Given the description of an element on the screen output the (x, y) to click on. 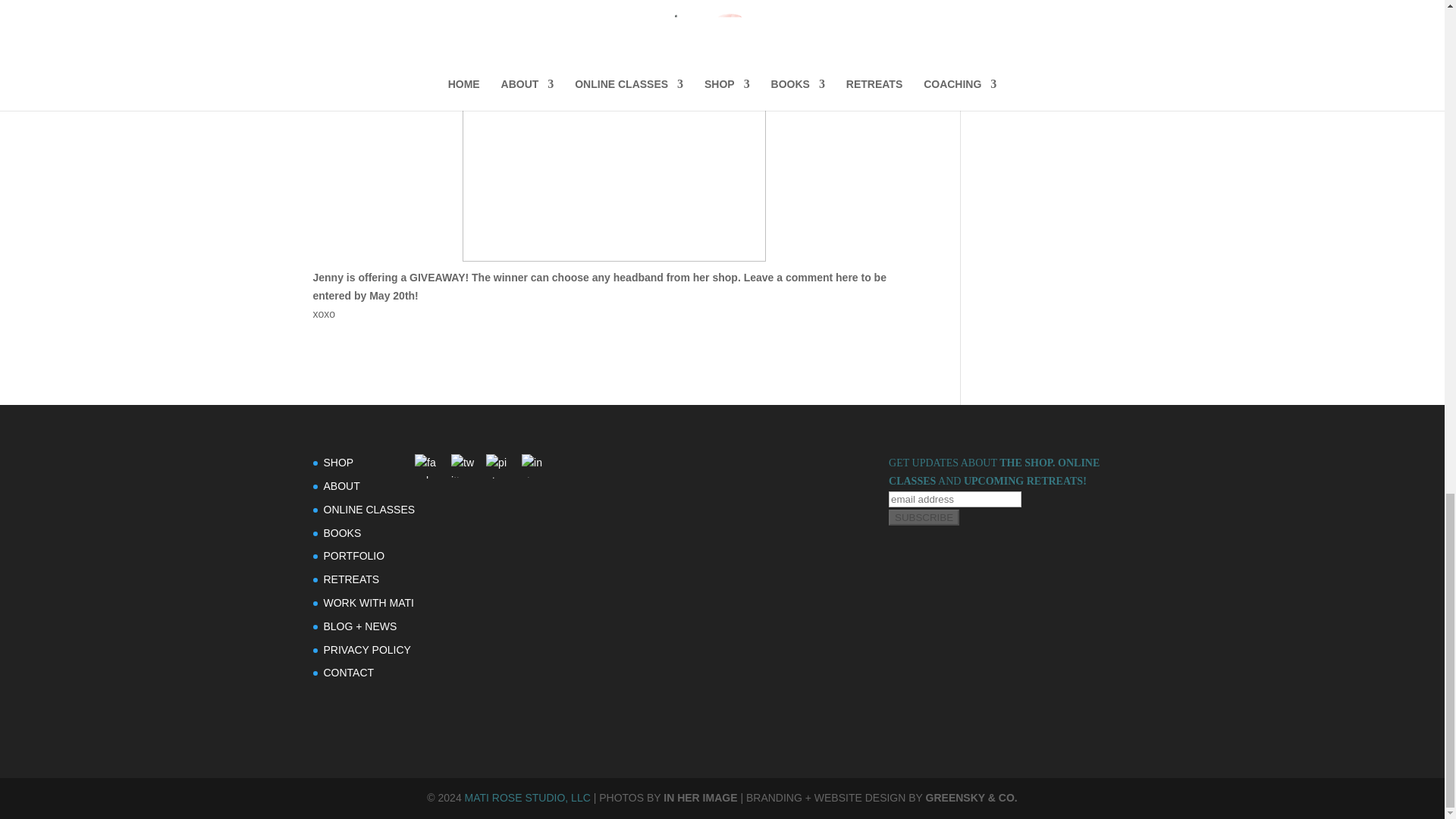
SUBSCRIBE (923, 517)
